Given the description of an element on the screen output the (x, y) to click on. 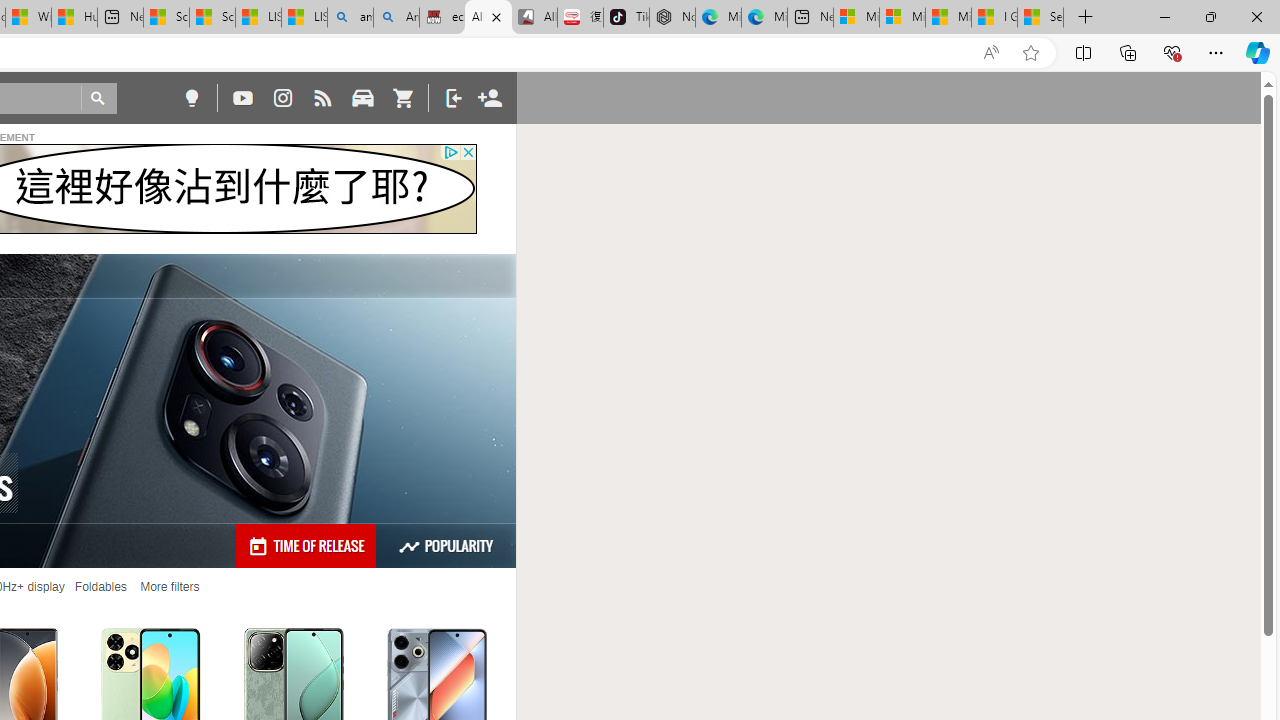
Read aloud this page (Ctrl+Shift+U) (991, 53)
Minimize (1164, 16)
Restore (1210, 16)
Settings and more (Alt+F) (1215, 52)
TikTok (626, 17)
More filters (169, 587)
amazon - Search (349, 17)
More filters (169, 587)
